Given the description of an element on the screen output the (x, y) to click on. 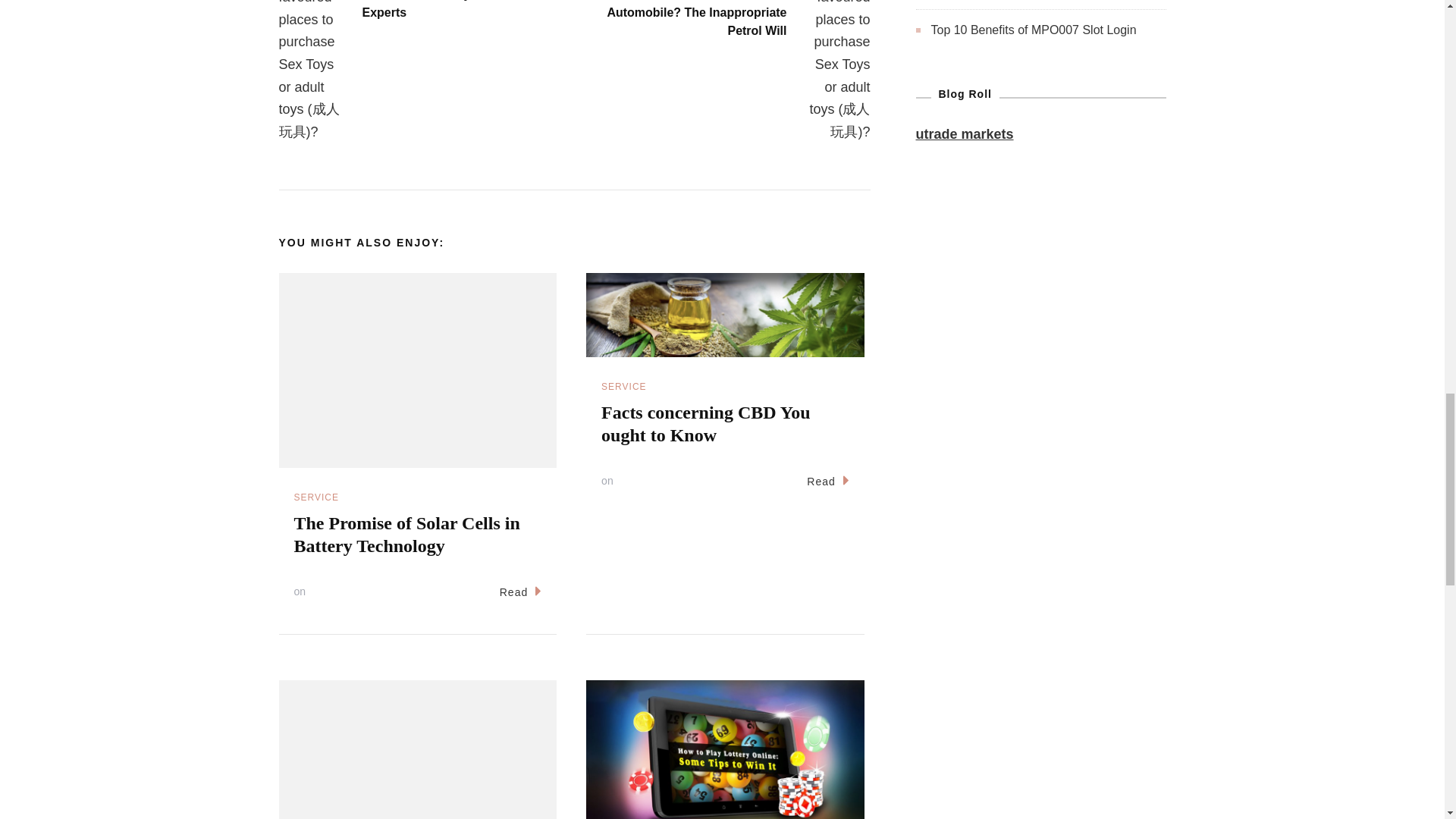
Facts concerning CBD You ought to Know (705, 423)
Read (827, 481)
Read (520, 592)
The Promise of Solar Cells in Battery Technology (406, 534)
SERVICE (316, 498)
SERVICE (623, 387)
